Given the description of an element on the screen output the (x, y) to click on. 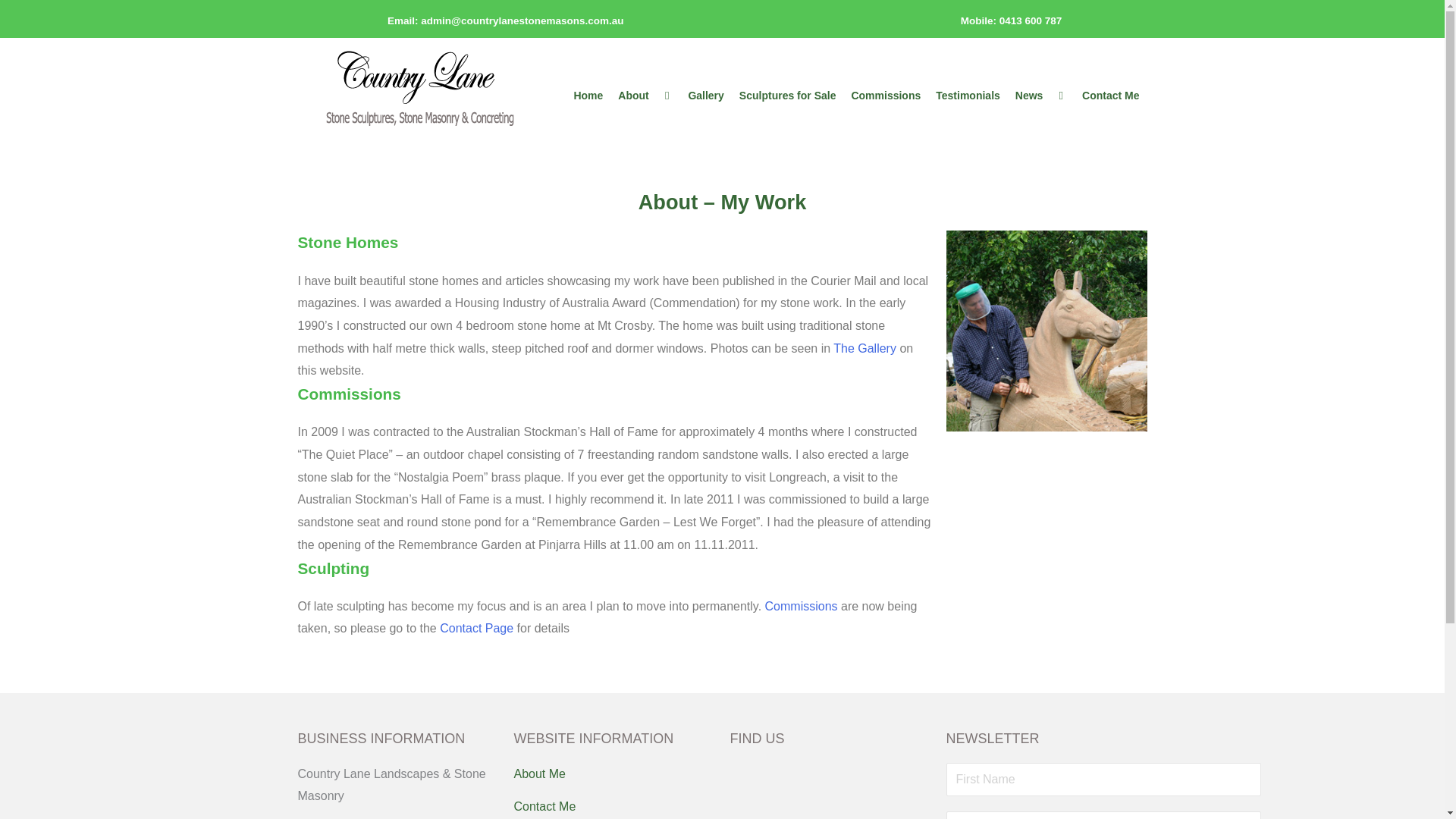
Commissions (801, 605)
News (1040, 94)
About Me (613, 773)
Contact Me (1110, 94)
0413 600 787 (1030, 20)
Testimonials (967, 94)
Commissions (885, 94)
Sculptures for Sale (788, 94)
About (644, 94)
Home (588, 94)
Gallery (704, 94)
Contact Page (476, 627)
Contact Me (613, 806)
The Gallery (864, 348)
